Given the description of an element on the screen output the (x, y) to click on. 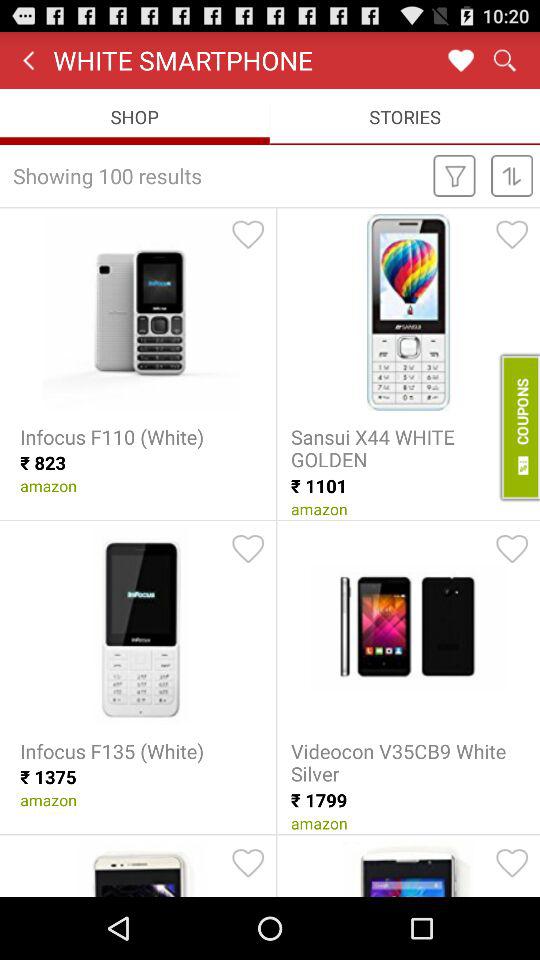
go to coupons (518, 427)
